Given the description of an element on the screen output the (x, y) to click on. 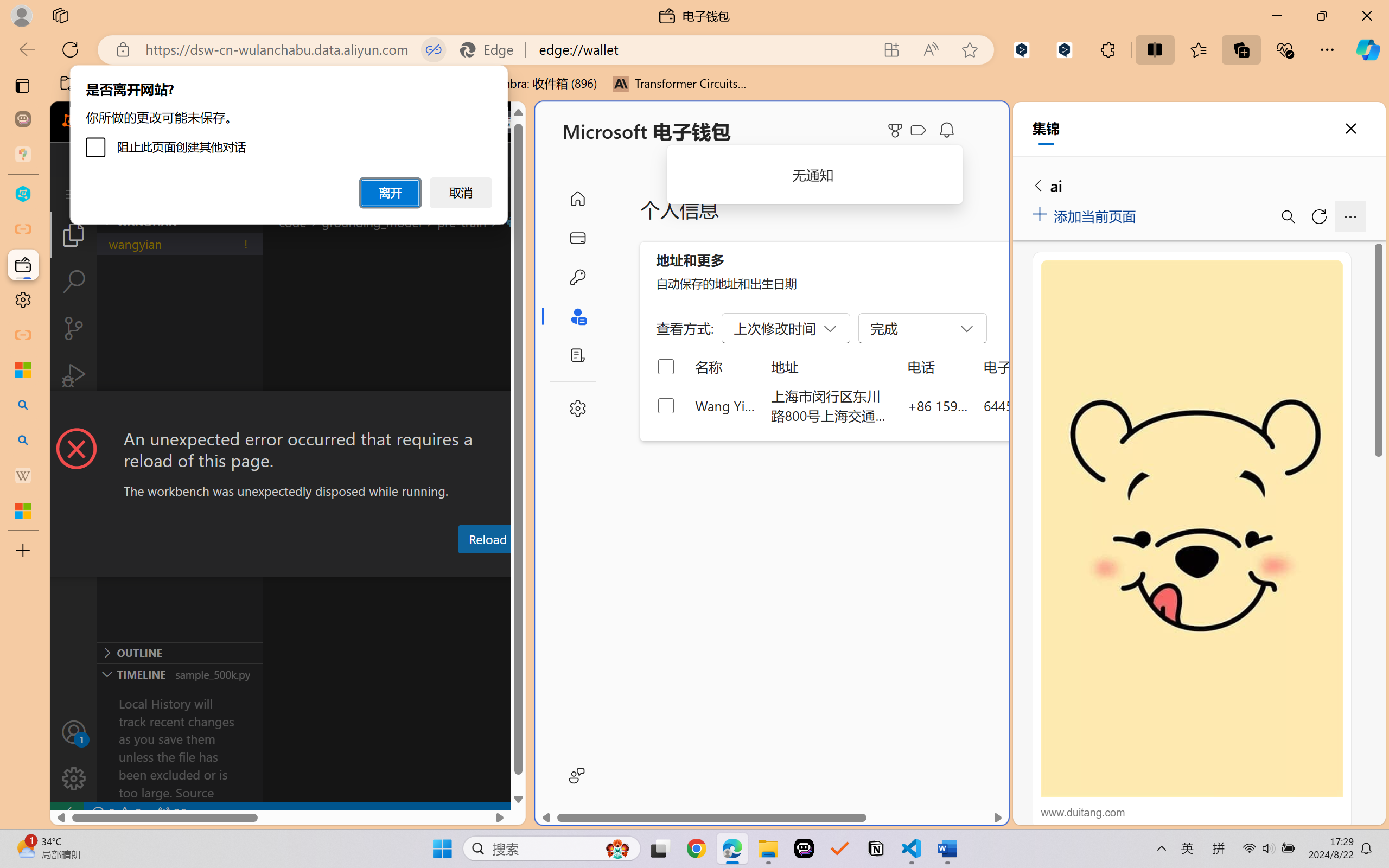
Microsoft Cashback (920, 130)
Extensions (Ctrl+Shift+X) (73, 422)
Close Dialog (520, 410)
Reload (486, 538)
Problems (Ctrl+Shift+M) (308, 565)
Transformer Circuits Thread (680, 83)
